Given the description of an element on the screen output the (x, y) to click on. 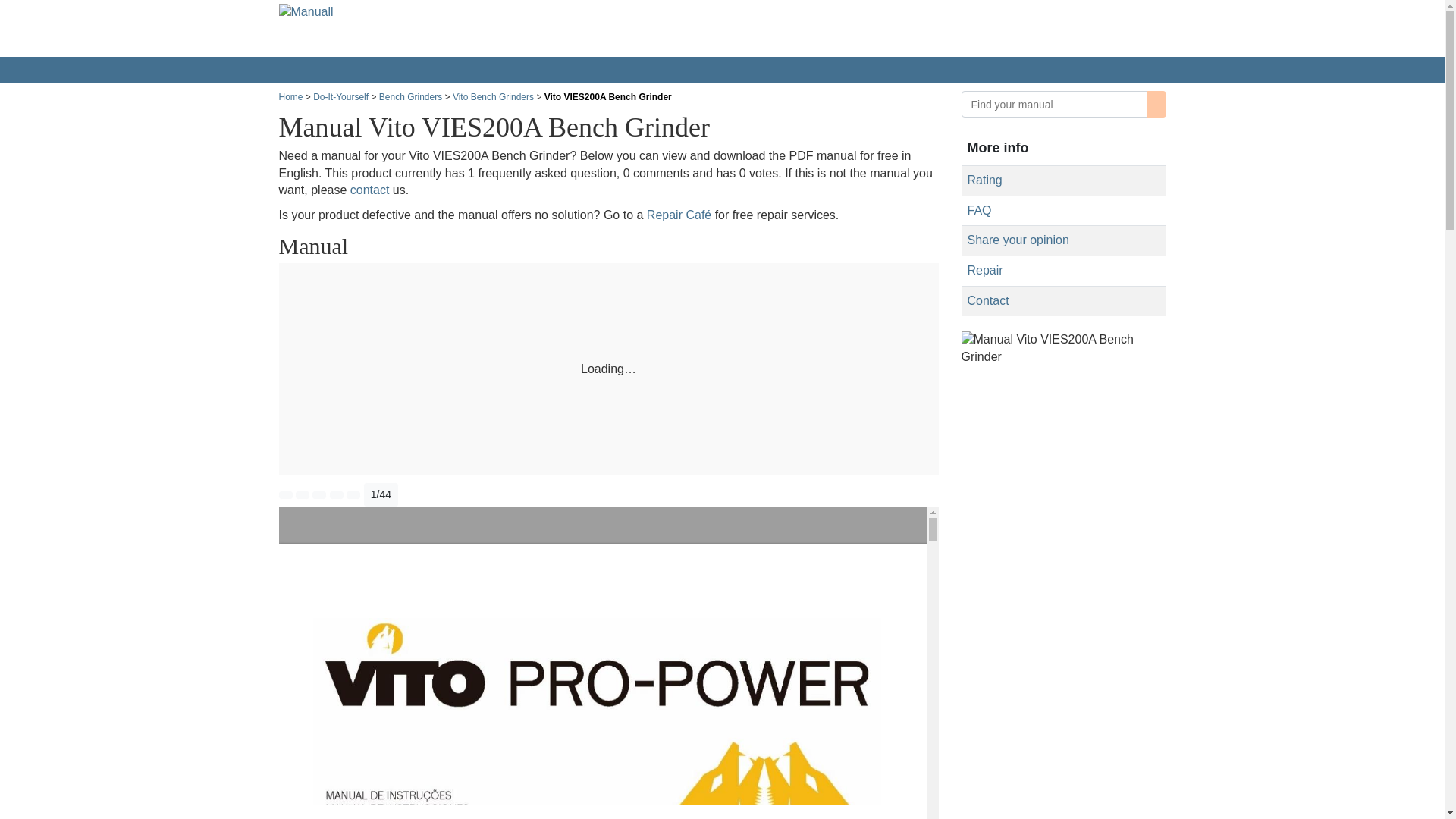
Manuals for Bench Grinders (410, 96)
Manuall (357, 28)
Manuals for Do-It-Yourself (340, 96)
Do-It-Yourself (340, 96)
Contact (988, 300)
contact (370, 189)
Bench Grinders (410, 96)
Repair (985, 269)
Home (290, 96)
Vito Bench Grinders (493, 96)
